Given the description of an element on the screen output the (x, y) to click on. 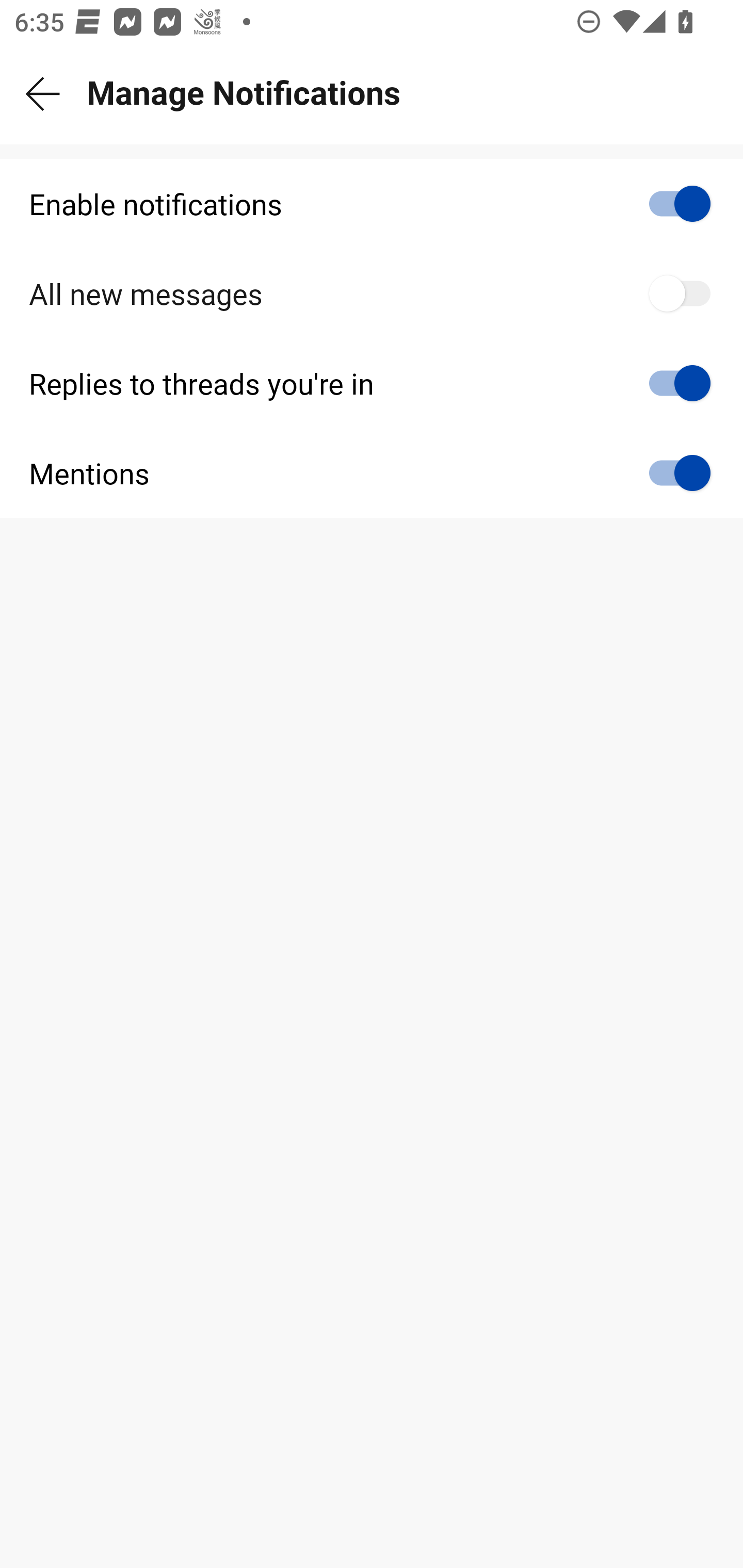
Back (43, 93)
Enable notifications (371, 203)
All new messages (371, 293)
Replies to threads you're in (371, 383)
Mentions (371, 472)
